Given the description of an element on the screen output the (x, y) to click on. 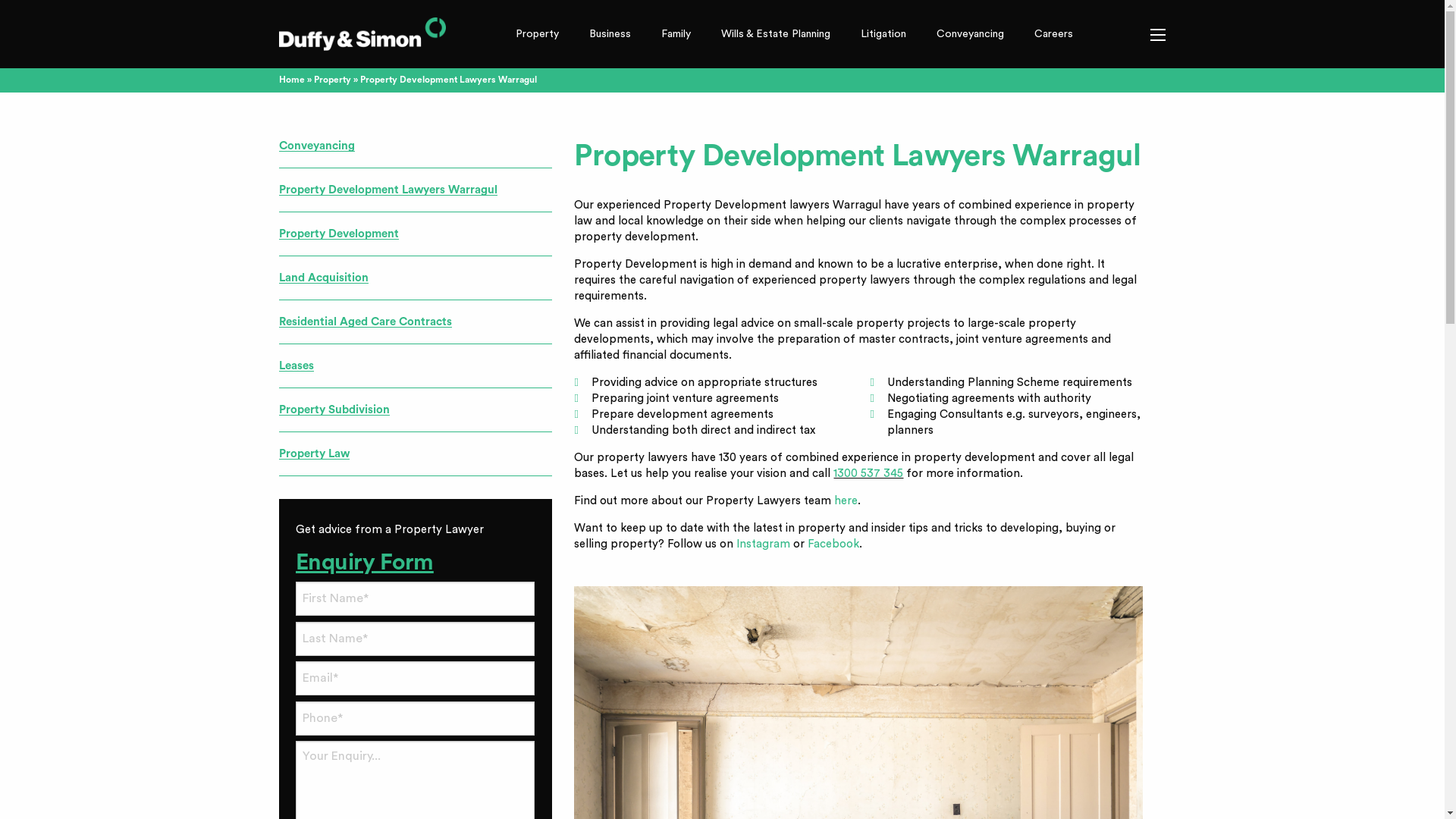
Property Element type: text (332, 79)
Conveyancing Element type: text (970, 33)
Family Element type: text (676, 33)
Property Element type: text (537, 33)
Leases Element type: text (296, 364)
Land Acquisition Element type: text (323, 276)
here Element type: text (845, 499)
1300 537 345 Element type: text (868, 472)
Conveyancing Element type: text (316, 144)
Property Law Element type: text (314, 452)
Business Element type: text (610, 33)
Property Subdivision Element type: text (334, 408)
Litigation Element type: text (883, 33)
Property Development Element type: text (338, 232)
Property Development Lawyers Warragul Element type: text (388, 188)
Careers Element type: text (1053, 33)
Home Element type: text (291, 79)
Instagram Element type: text (763, 543)
Facebook Element type: text (833, 543)
Wills & Estate Planning Element type: text (775, 33)
Residential Aged Care Contracts Element type: text (365, 320)
